Given the description of an element on the screen output the (x, y) to click on. 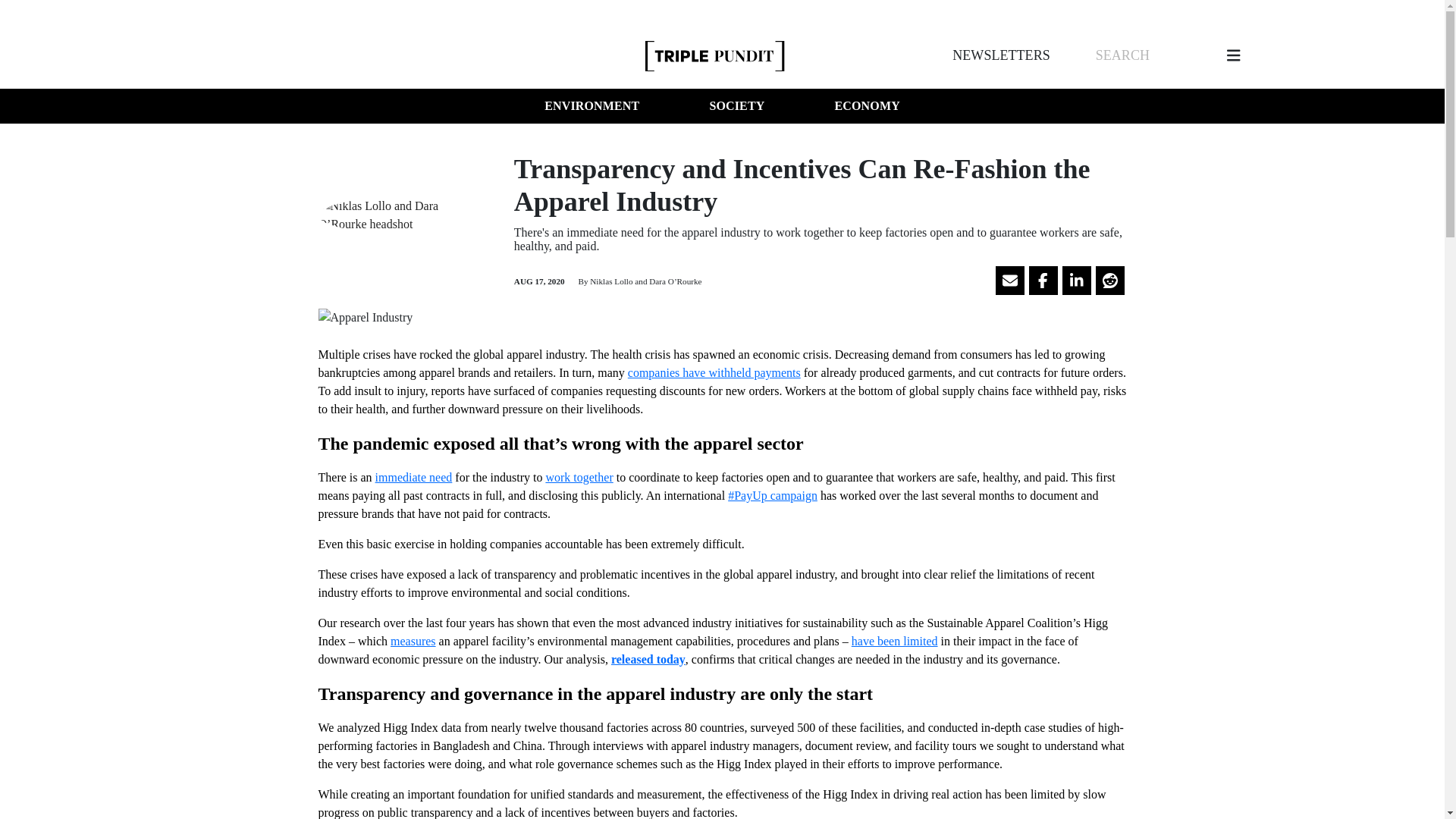
have been limited (894, 640)
SOCIETY (736, 105)
SEARCH (1122, 55)
measures (412, 640)
work together (578, 477)
companies have withheld payments (713, 372)
ECONOMY (866, 105)
released today (648, 658)
ENVIRONMENT (591, 105)
immediate need (413, 477)
